Given the description of an element on the screen output the (x, y) to click on. 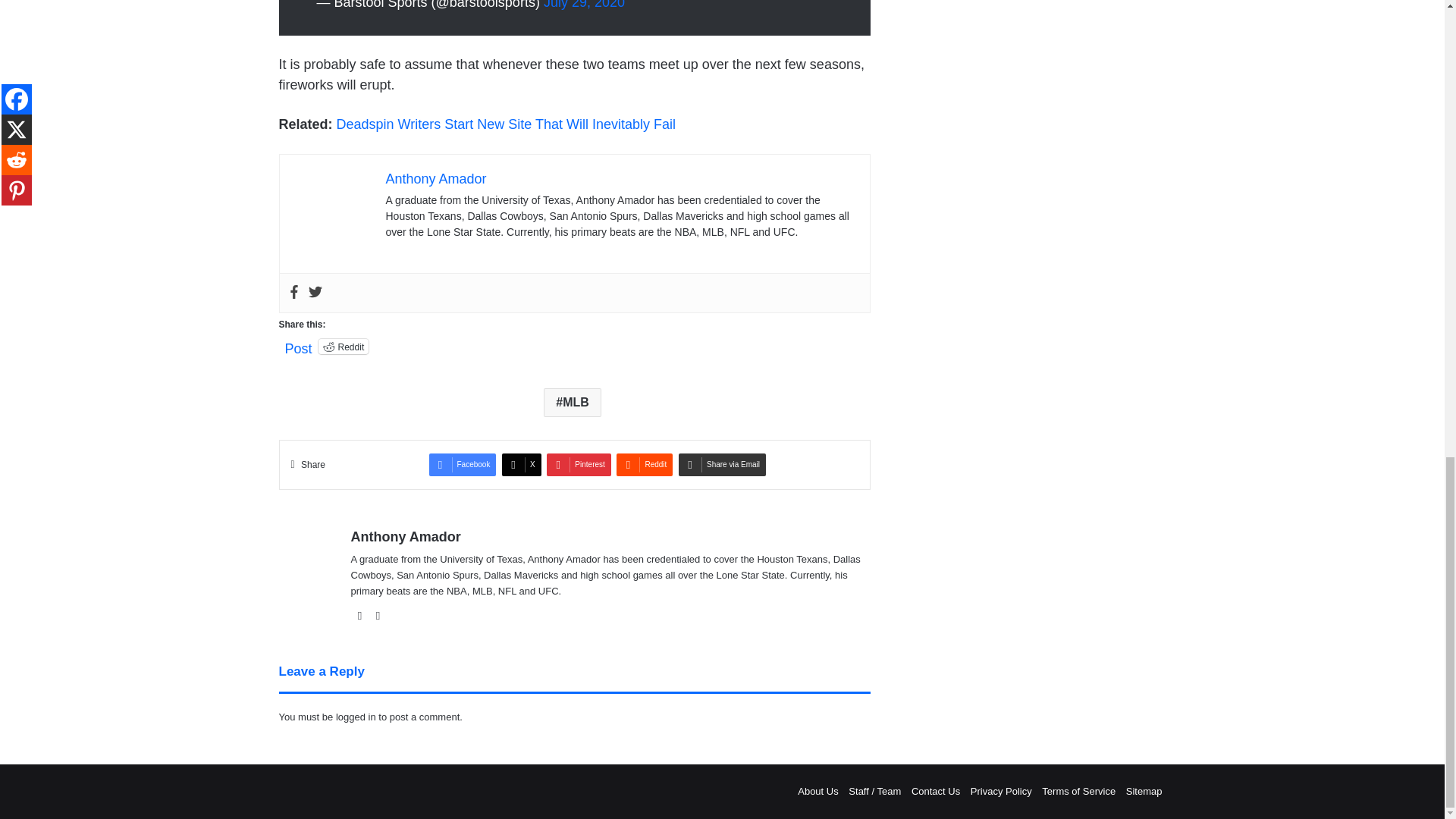
Deadspin Writers Start New Site That Will Inevitably Fail (506, 124)
Deadspin Writers Start New Site That Will Inevitably Fail (506, 124)
Anthony Amador (435, 178)
July 29, 2020 (583, 4)
Reddit (343, 346)
Post (299, 345)
